Given the description of an element on the screen output the (x, y) to click on. 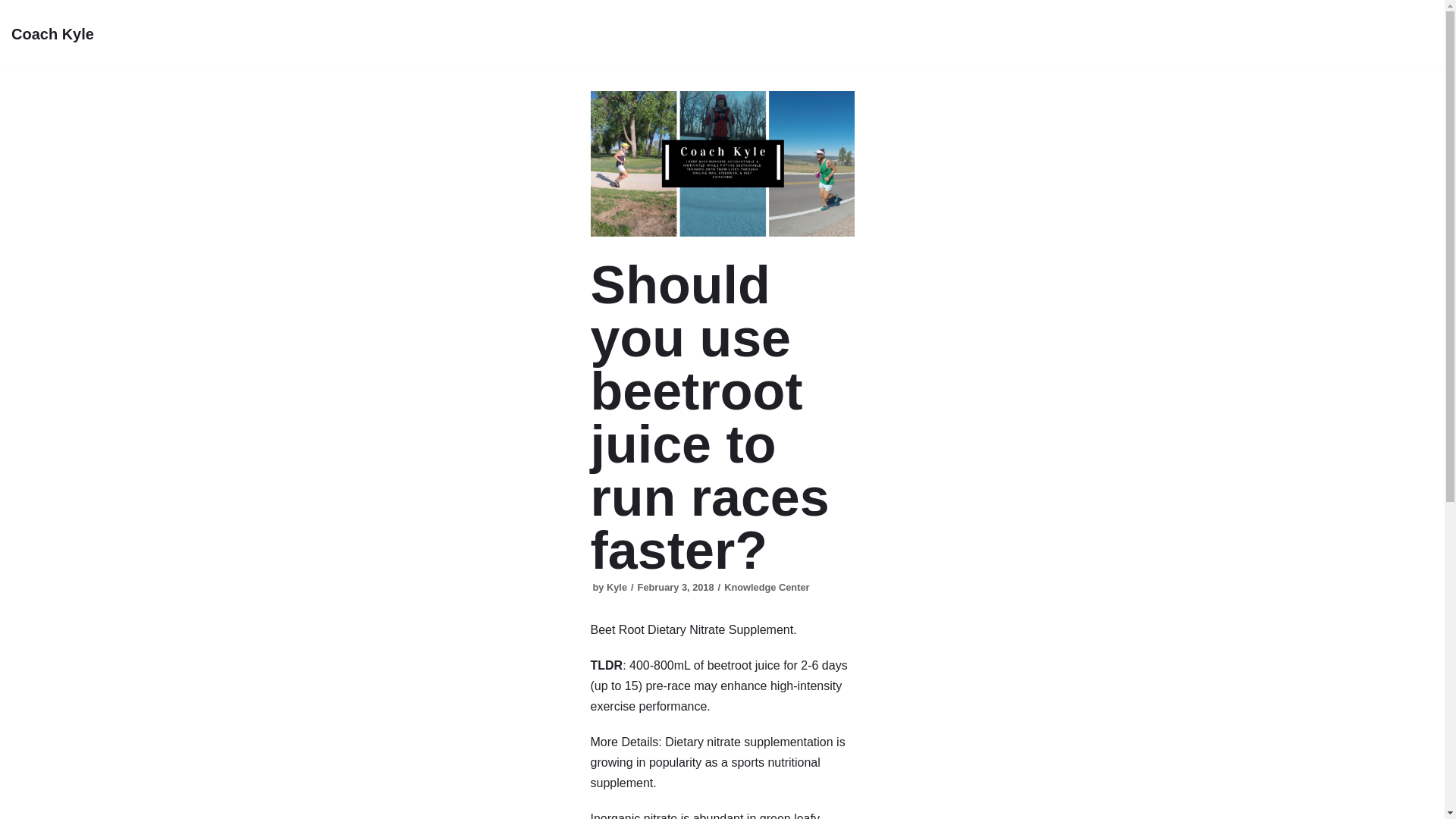
Kyle (617, 586)
Skip to content (15, 7)
Knowledge Center (766, 586)
Coach Kyle (52, 33)
Coach Kyle (52, 33)
Posts by Kyle (617, 586)
